Given the description of an element on the screen output the (x, y) to click on. 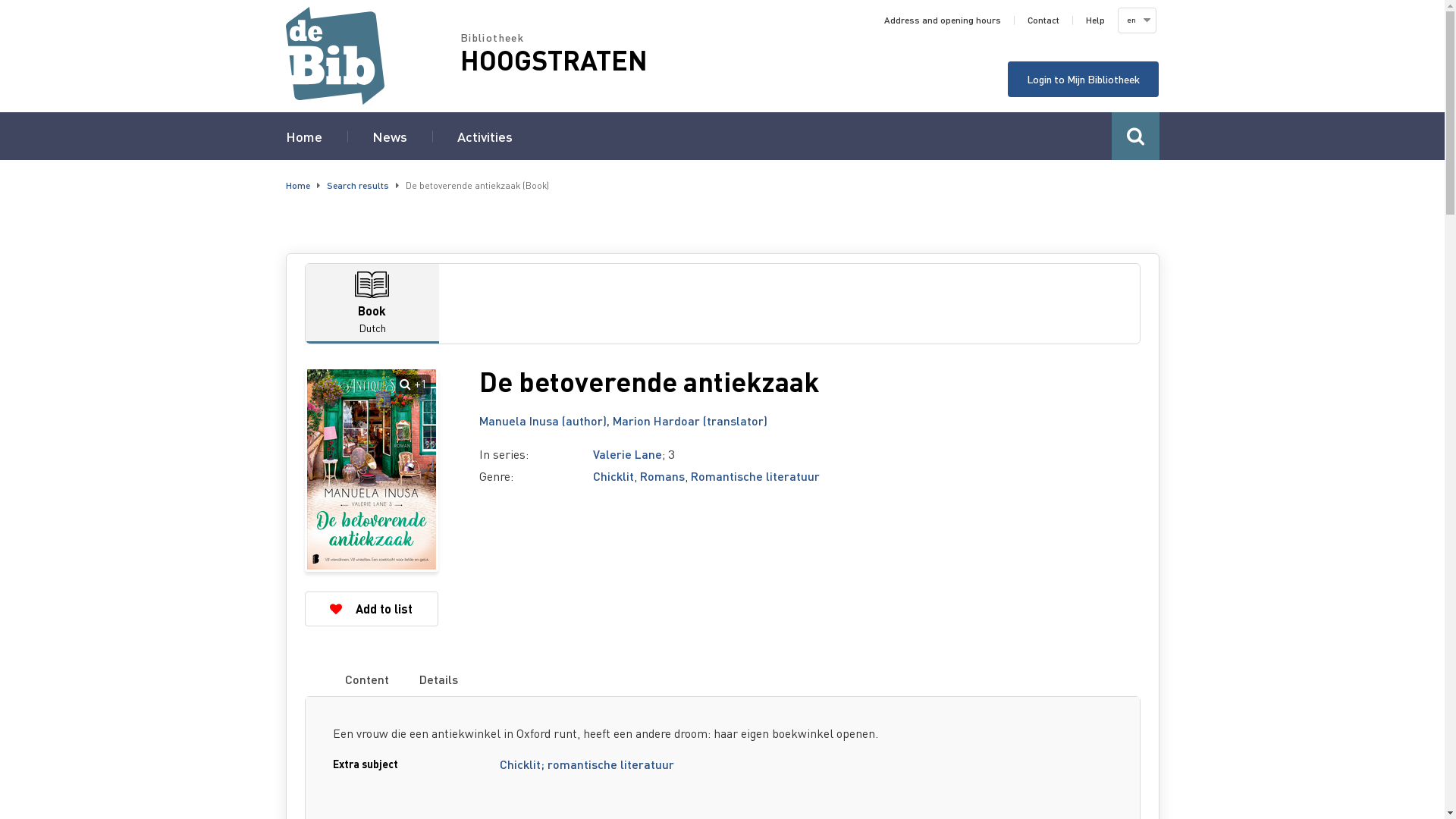
Activities Element type: text (483, 136)
Valerie Lane Element type: text (627, 453)
Chicklit Element type: text (613, 475)
Skip to search Element type: text (0, 0)
Manuela Inusa (author), Element type: text (545, 420)
Marion Hardoar (translator) Element type: text (689, 420)
Home Element type: hover (372, 55)
Search results Element type: text (357, 185)
Login to Mijn Bibliotheek Element type: text (1082, 79)
Toggle search Element type: hover (1135, 136)
Content Element type: text (366, 679)
Romantische literatuur Element type: text (754, 475)
News Element type: text (388, 136)
Help Element type: text (1094, 20)
Chicklit; romantische literatuur Element type: text (586, 763)
en Element type: text (1135, 20)
Address and opening hours Element type: text (942, 20)
Contact Element type: text (1042, 20)
Details Element type: text (438, 679)
Romans Element type: text (662, 475)
Home Element type: text (303, 136)
Home Element type: text (297, 185)
Add to list Element type: text (371, 608)
